Given the description of an element on the screen output the (x, y) to click on. 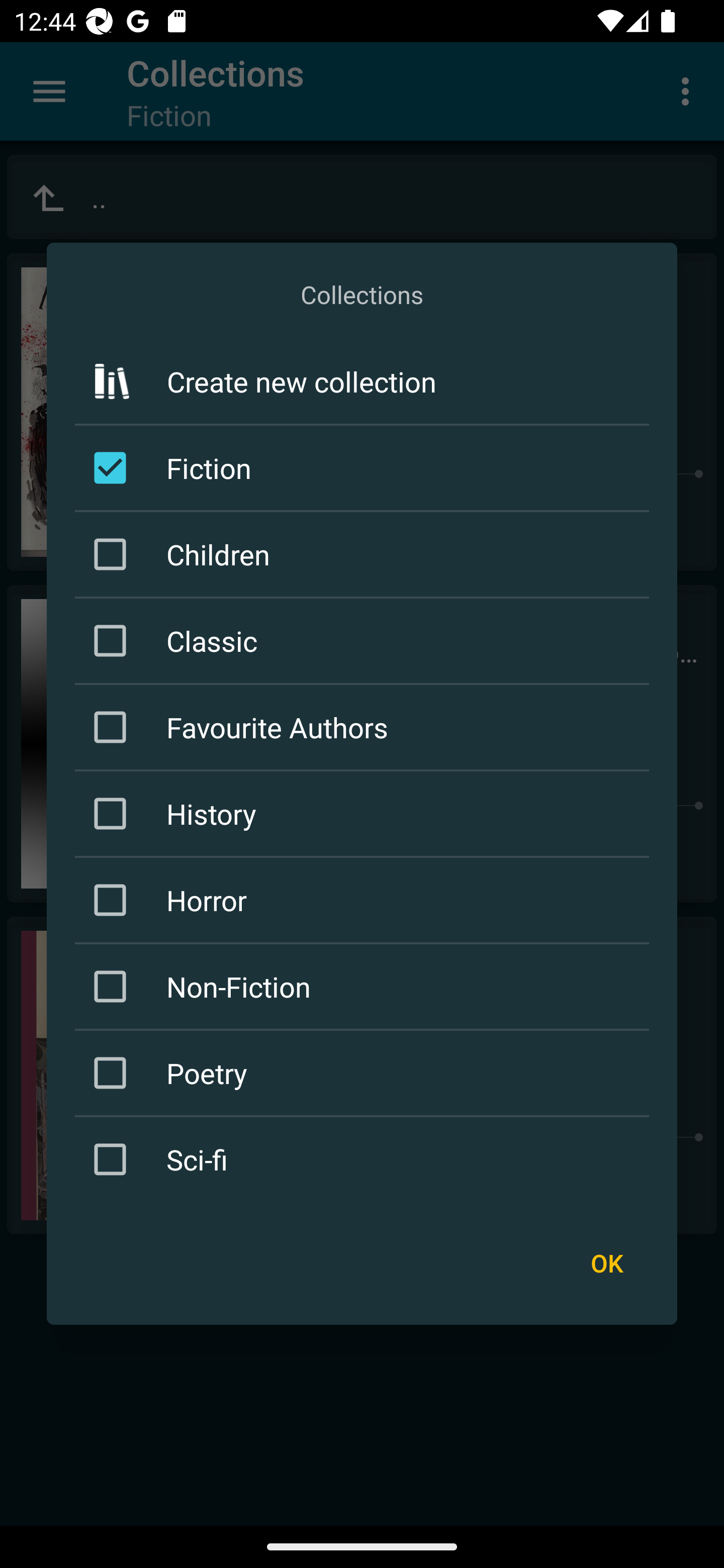
Create new collection (361, 380)
Fiction (365, 466)
Children (365, 553)
Classic (365, 640)
Favourite Authors (365, 727)
History (365, 813)
Horror (365, 899)
Non-Fiction (365, 985)
Poetry (365, 1072)
Sci-fi (365, 1158)
OK (606, 1262)
